Given the description of an element on the screen output the (x, y) to click on. 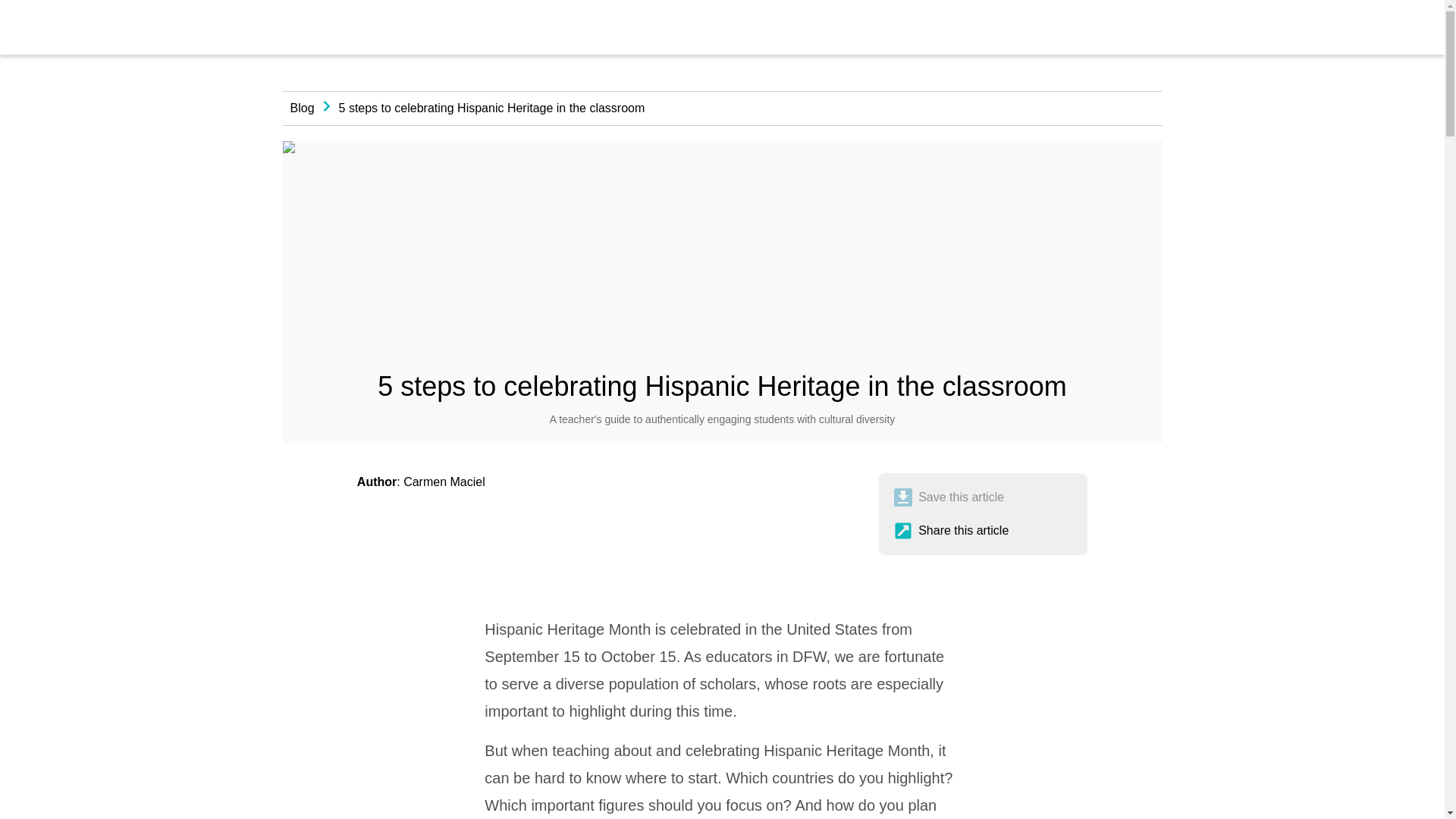
5 steps to celebrating Hispanic Heritage in the classroom (492, 108)
Blog (301, 108)
Save this article (948, 497)
Share this article (951, 530)
